Given the description of an element on the screen output the (x, y) to click on. 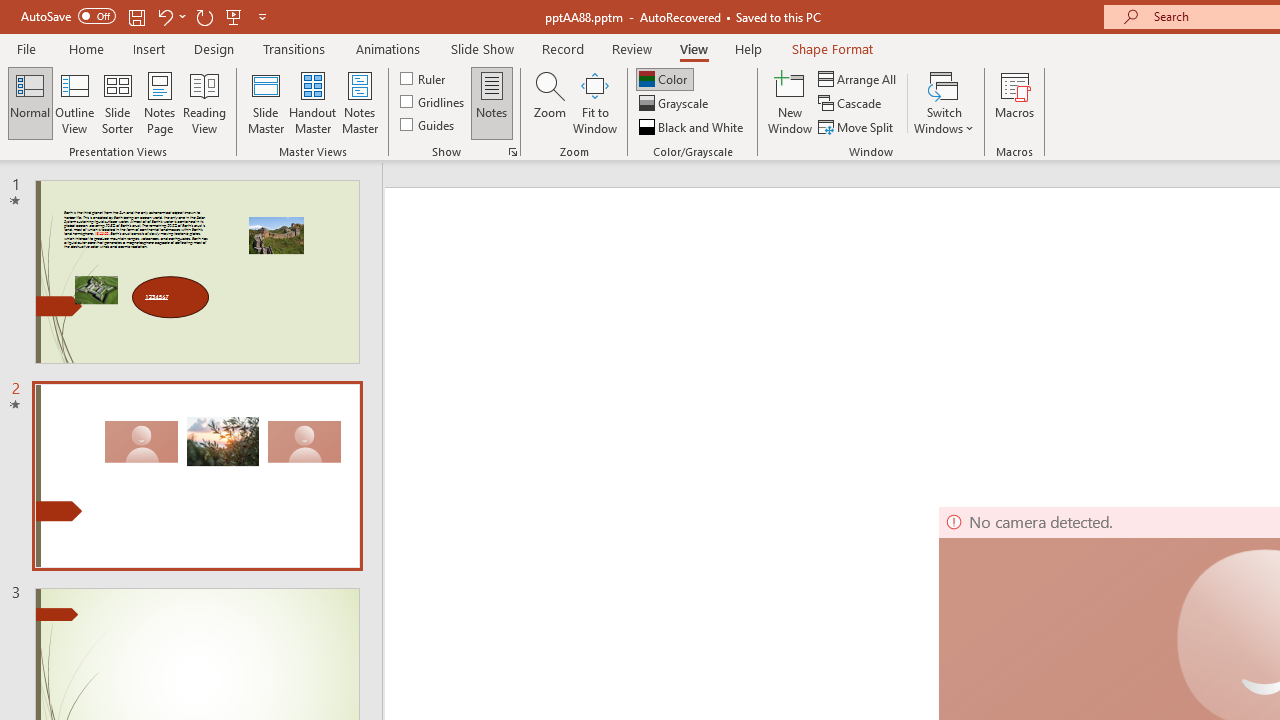
Arrange All (858, 78)
Outline View (74, 102)
